Given the description of an element on the screen output the (x, y) to click on. 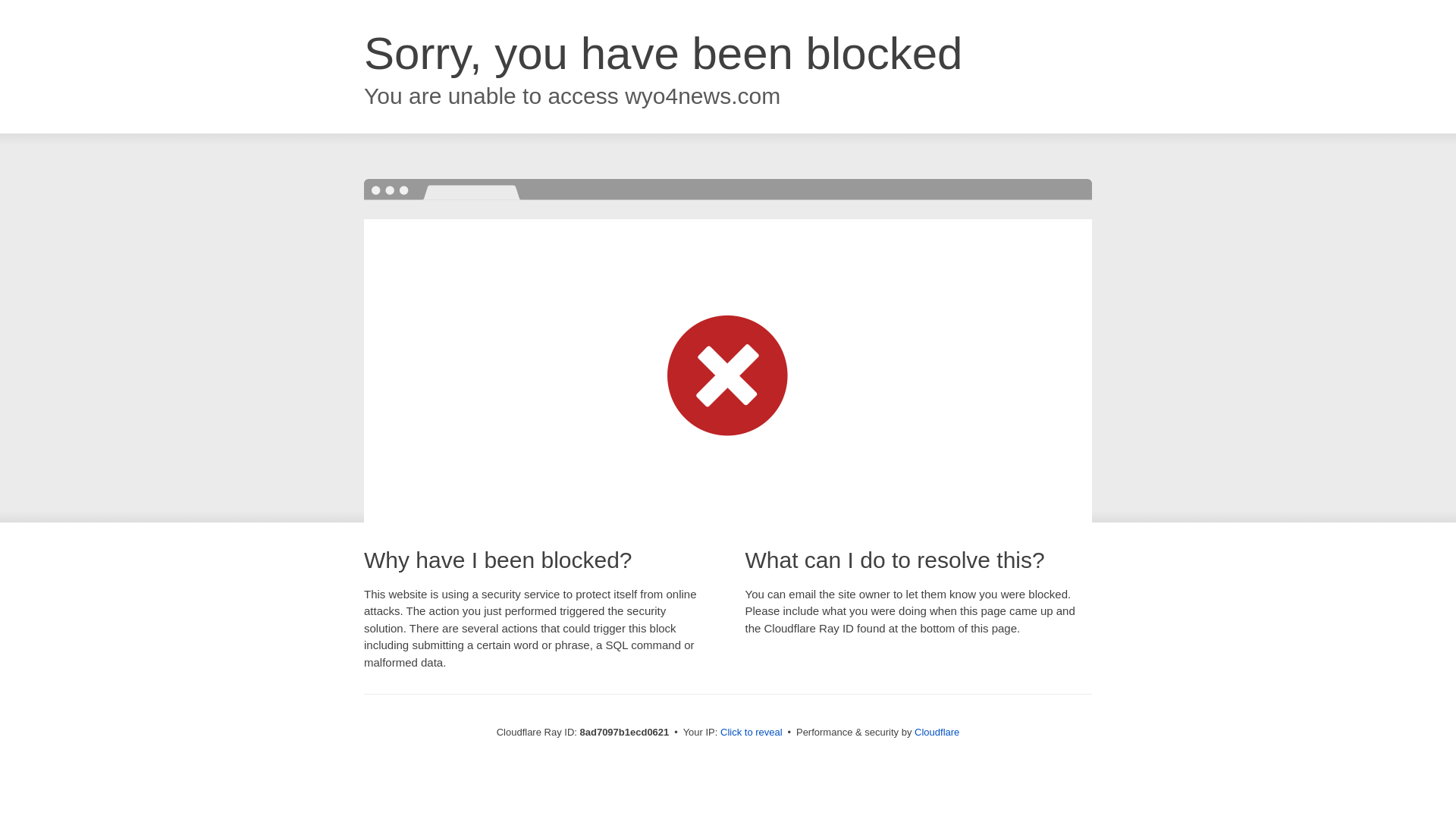
Cloudflare (936, 731)
Click to reveal (751, 732)
